Given the description of an element on the screen output the (x, y) to click on. 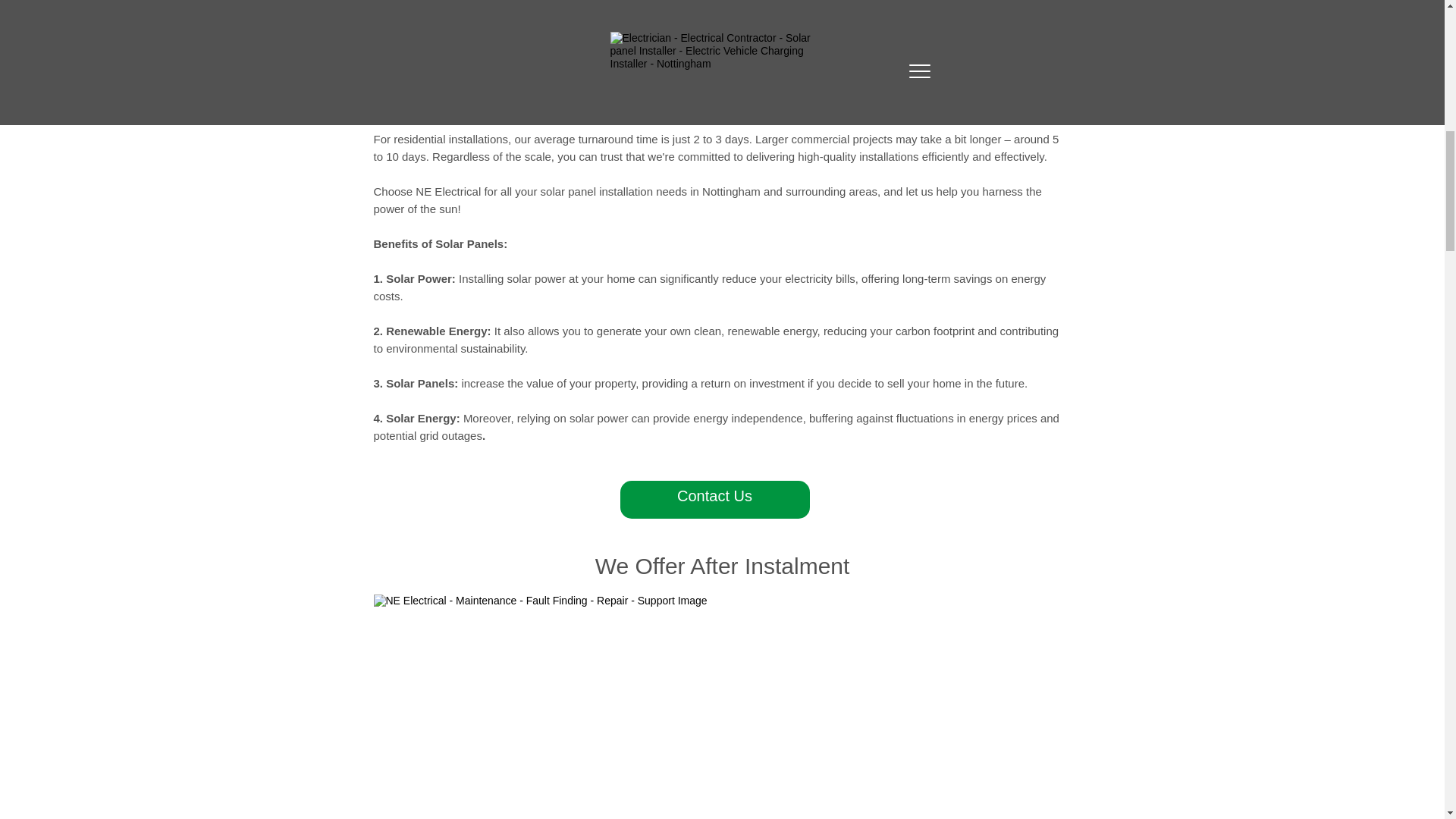
Contact Us (714, 499)
